Given the description of an element on the screen output the (x, y) to click on. 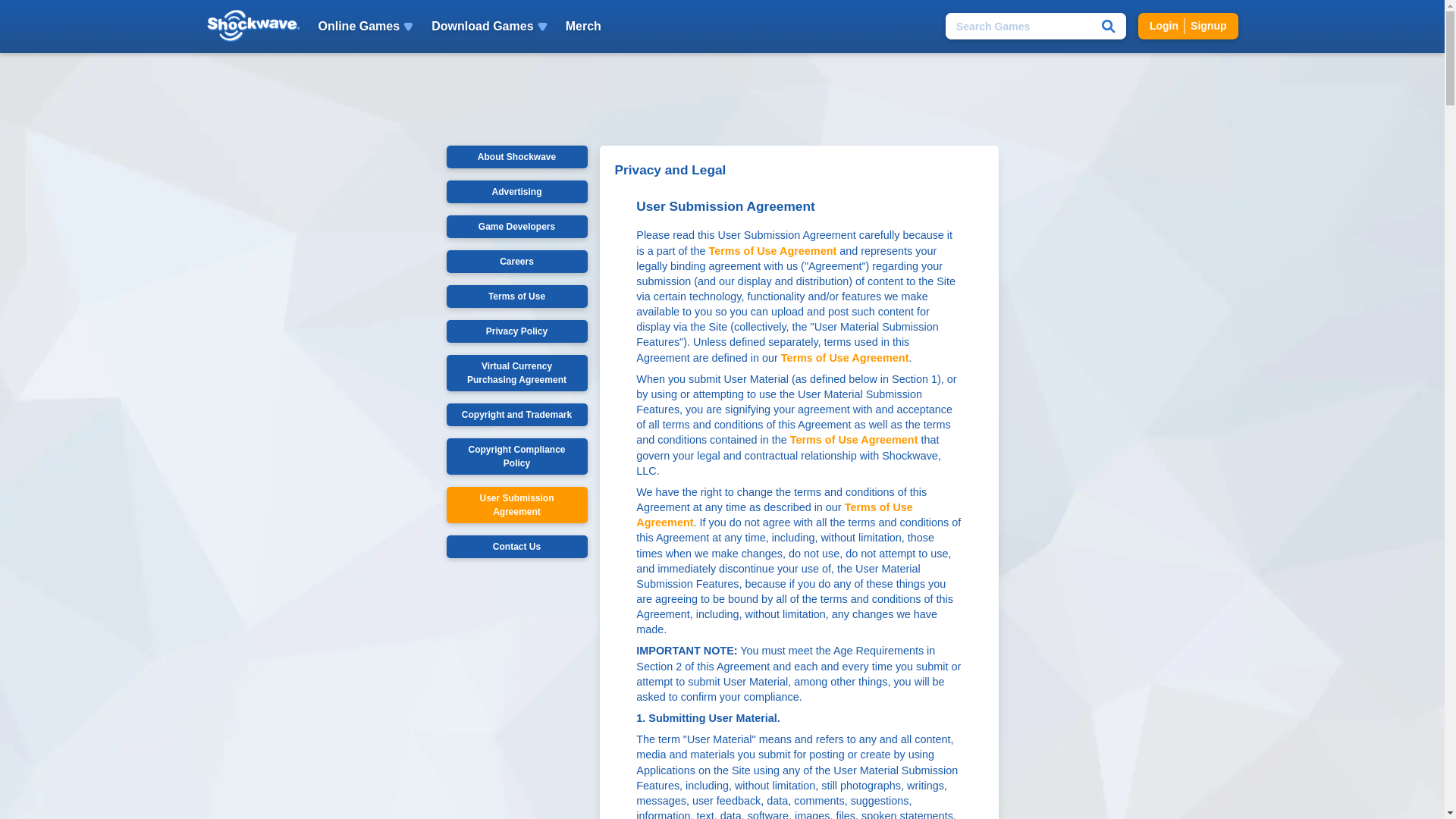
Copyright Compliance Policy (515, 456)
Terms of Use (515, 296)
Game Developers (515, 226)
Terms of Use Agreement (774, 514)
About Shockwave (515, 156)
Virtual Currency Purchasing Agreement (1188, 26)
Terms of Use Agreement (515, 372)
Terms of Use Agreement (771, 250)
Advertising (854, 439)
Careers (515, 191)
Copyright and Trademark (515, 261)
Terms of Use Agreement (515, 414)
Contact Us (844, 357)
Privacy Policy (515, 546)
